Given the description of an element on the screen output the (x, y) to click on. 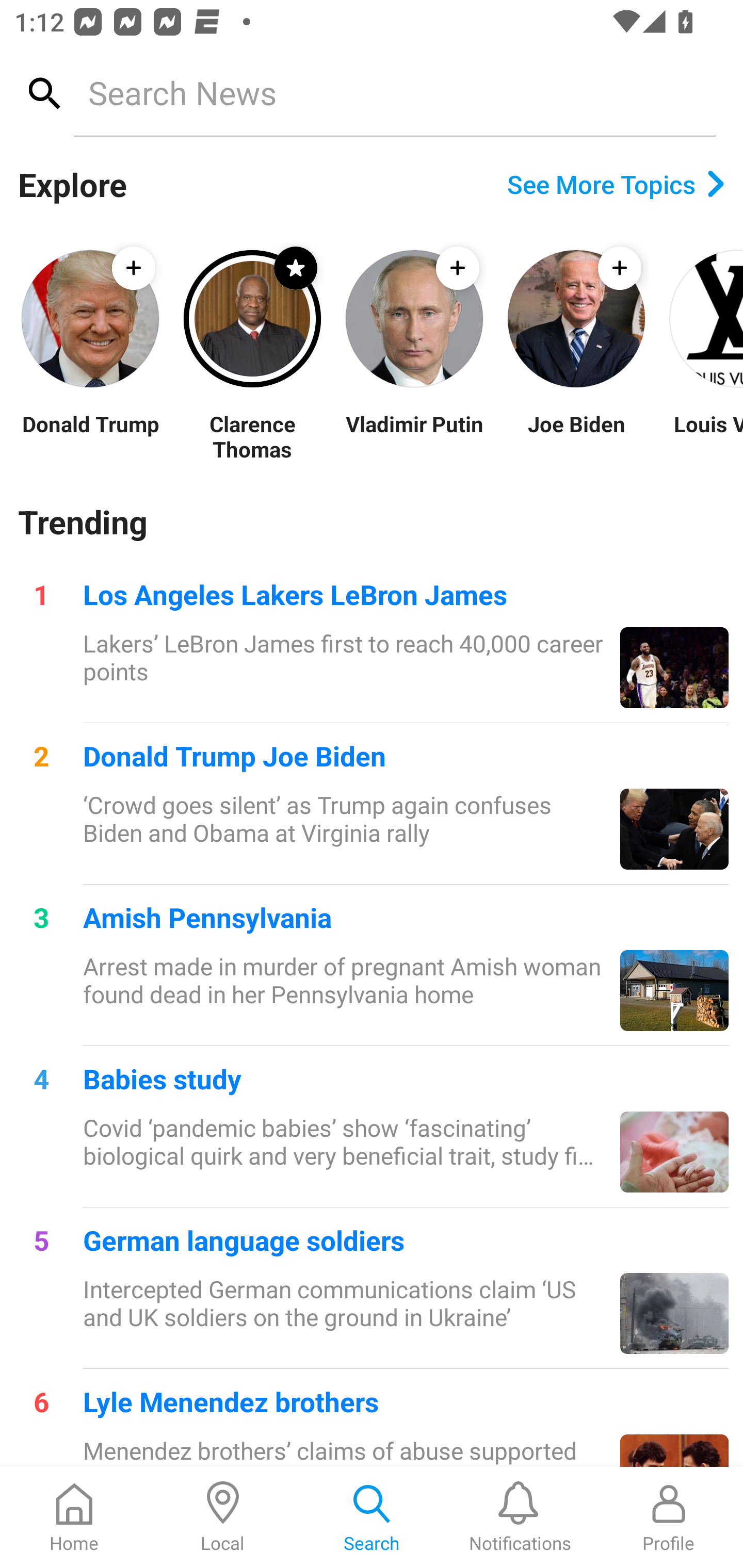
Search News (394, 92)
See More Topics (616, 183)
Donald Trump (89, 436)
Clarence Thomas (251, 436)
Vladimir Putin (413, 436)
Joe Biden (575, 436)
Home (74, 1517)
Local (222, 1517)
Notifications (519, 1517)
Profile (668, 1517)
